Given the description of an element on the screen output the (x, y) to click on. 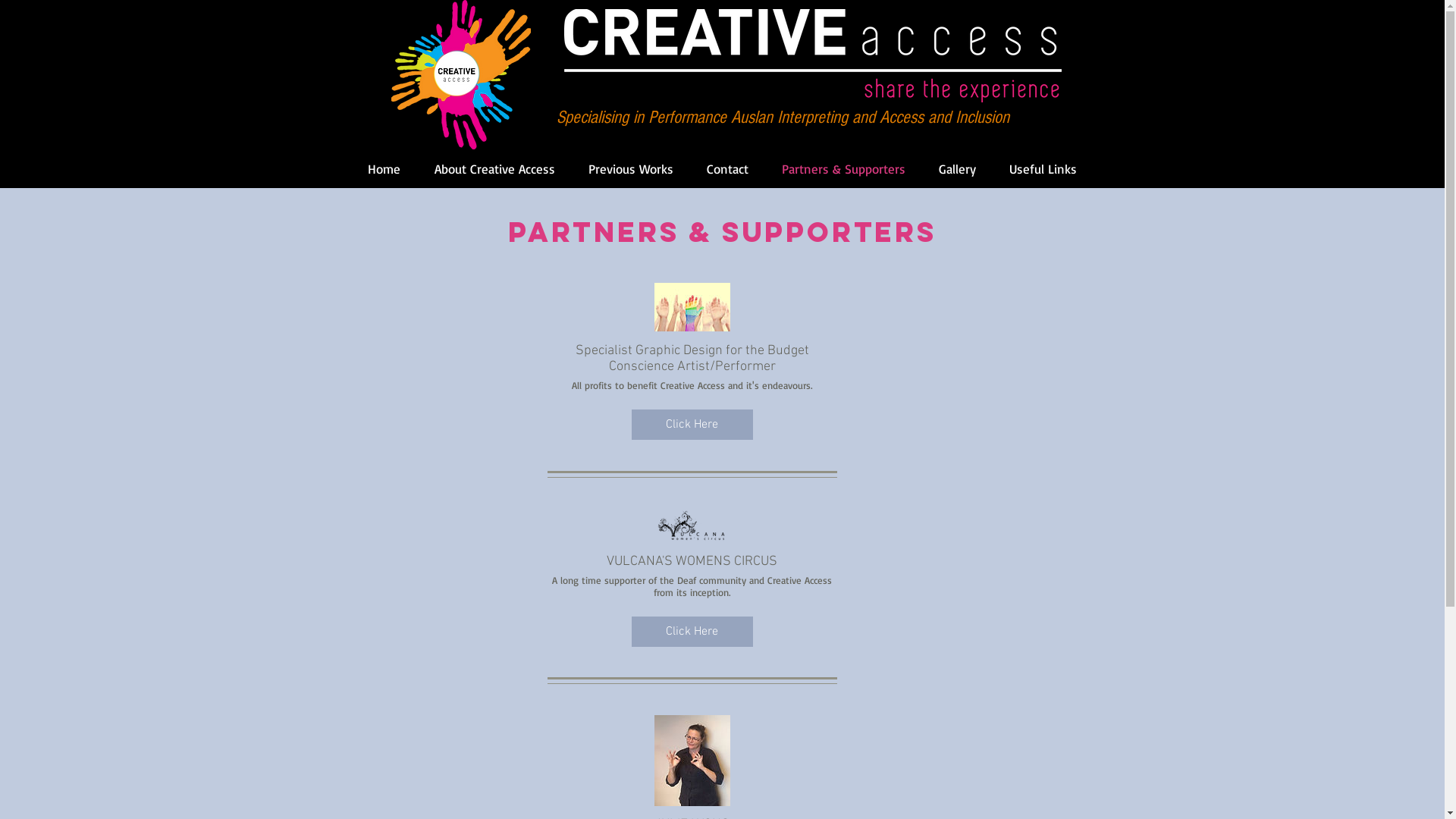
Home Element type: text (383, 169)
Previous Works Element type: text (630, 169)
julie website hero shot_edited.jpg Element type: hover (691, 760)
About Creative Access Element type: text (494, 169)
Partners & Supporters Element type: text (842, 169)
Vulcana-Logo-Black small.png Element type: hover (691, 525)
Useful Links Element type: text (1041, 169)
Gallery Element type: text (957, 169)
Contact Element type: text (727, 169)
